Given the description of an element on the screen output the (x, y) to click on. 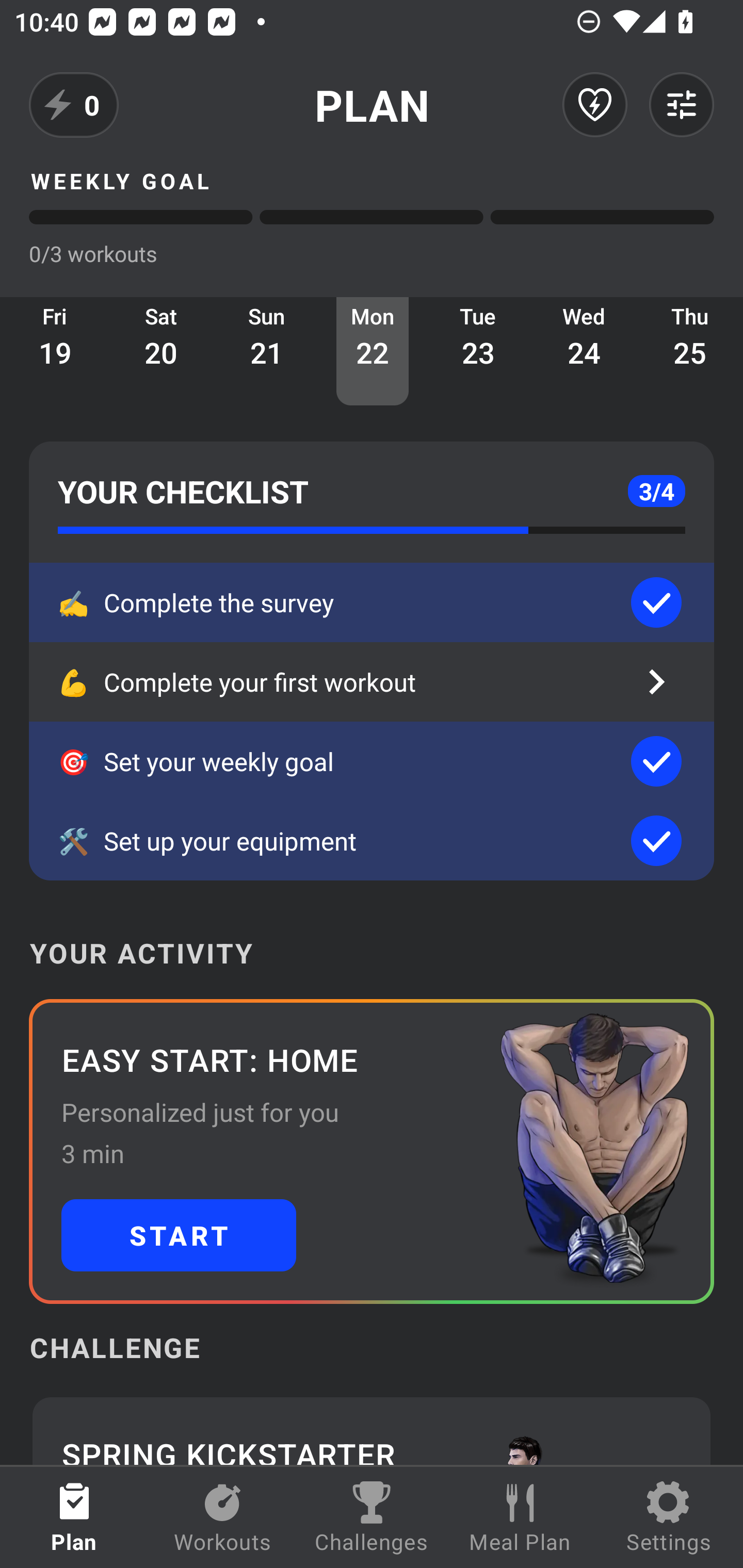
0 (73, 104)
Fri 19 (55, 351)
Sat 20 (160, 351)
Sun 21 (266, 351)
Mon 22 (372, 351)
Tue 23 (478, 351)
Wed 24 (584, 351)
Thu 25 (690, 351)
💪 Complete your first workout (371, 681)
START (178, 1235)
 Workouts  (222, 1517)
 Challenges  (371, 1517)
 Meal Plan  (519, 1517)
 Settings  (668, 1517)
